Given the description of an element on the screen output the (x, y) to click on. 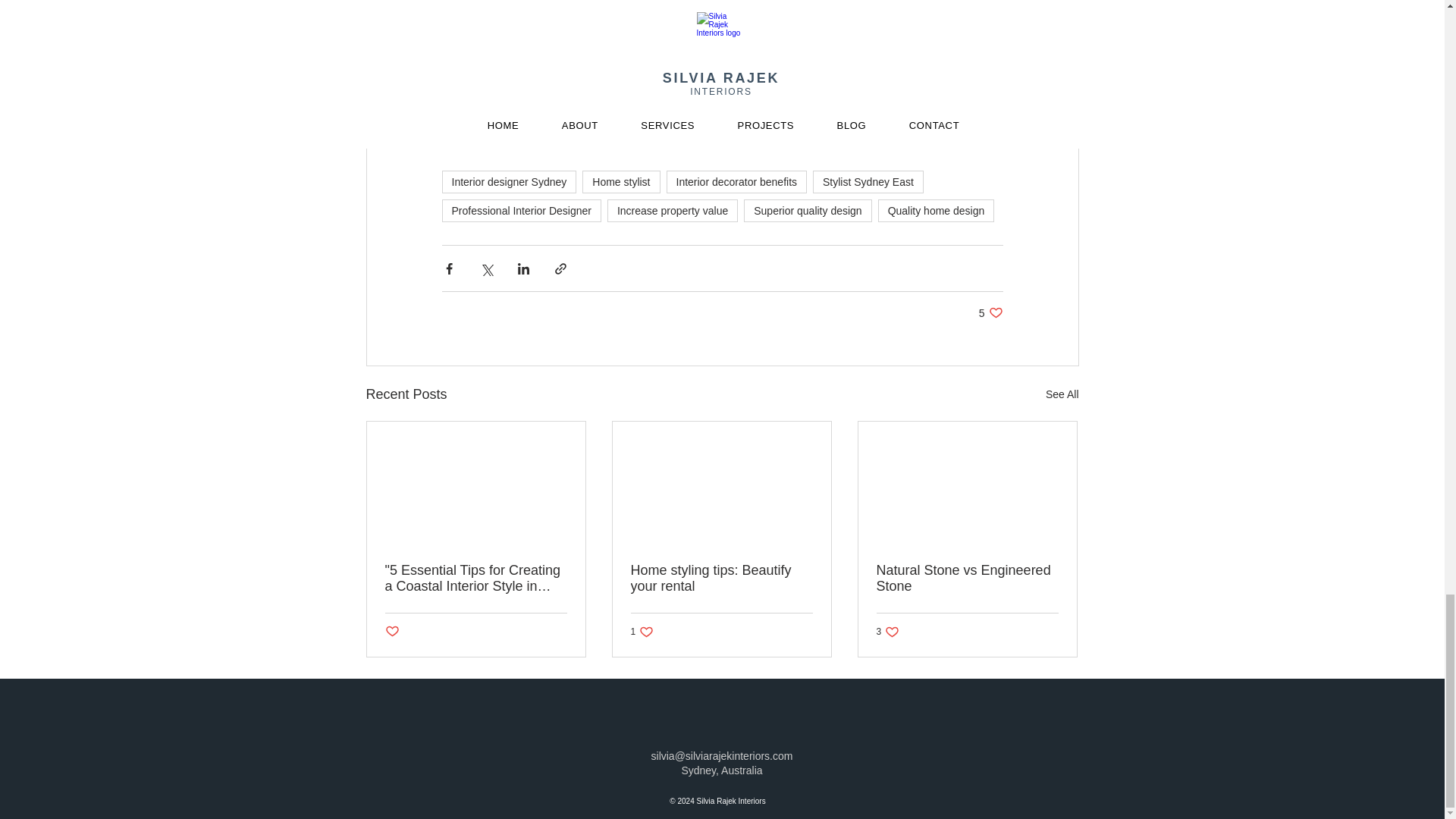
See All (1061, 394)
Interior designer Sydney (508, 181)
Sydney, Australia (721, 770)
Professional Interior Designer (641, 631)
Stylist Sydney East (520, 210)
Post not marked as liked (867, 181)
Home stylist (990, 312)
